Given the description of an element on the screen output the (x, y) to click on. 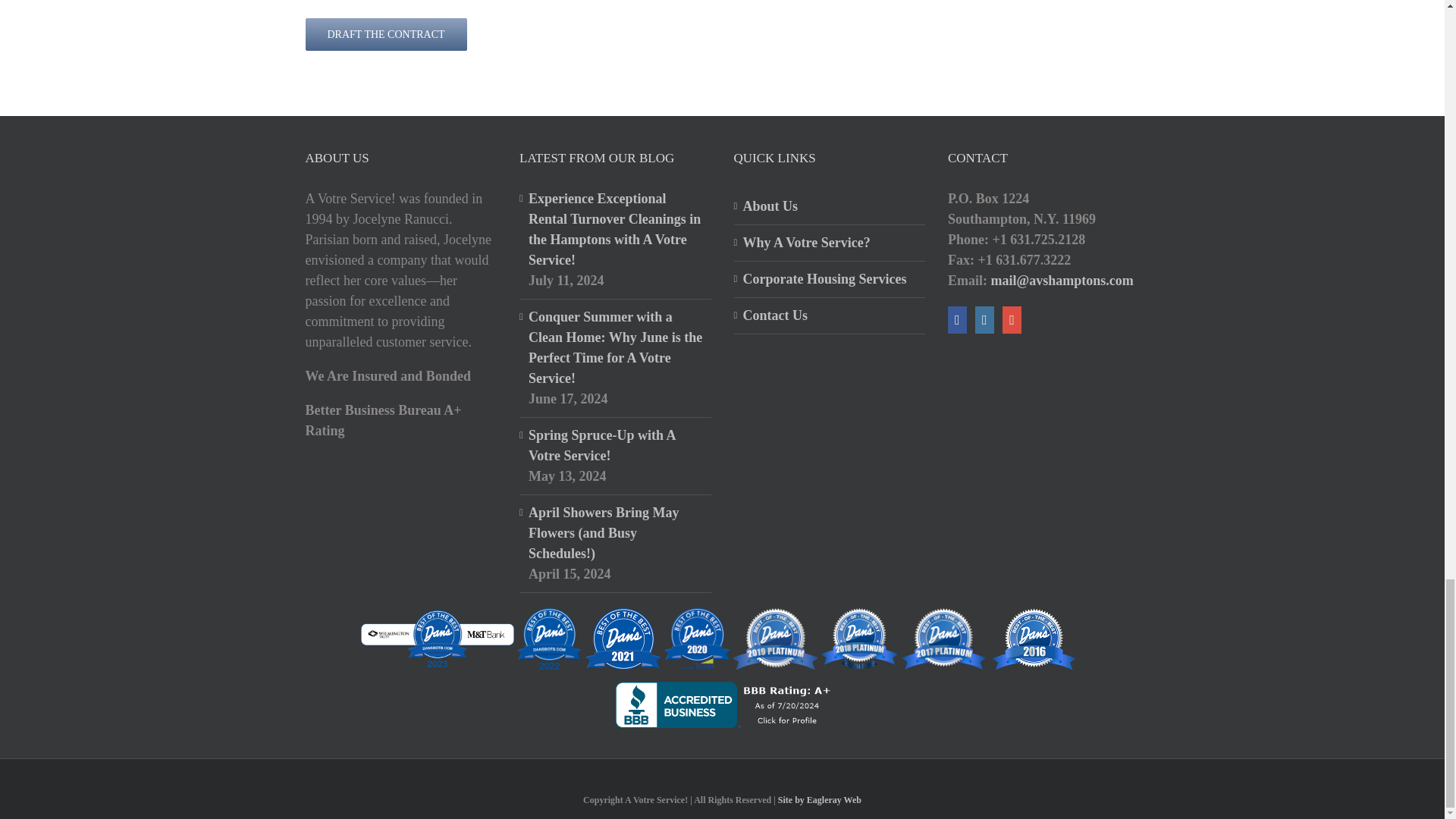
Draft The Contract (384, 34)
